Given the description of an element on the screen output the (x, y) to click on. 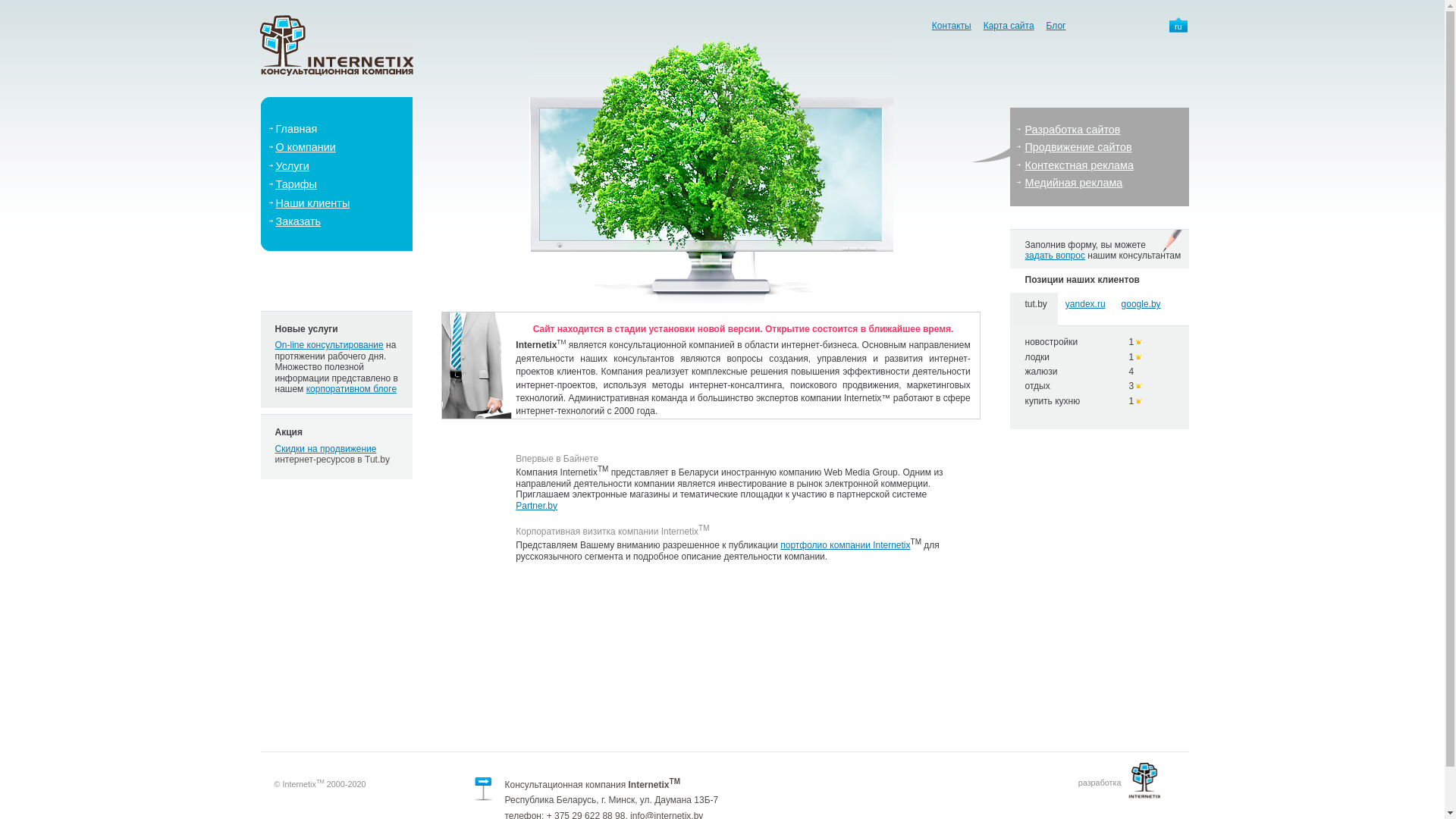
yandex.ru Element type: text (1085, 303)
google.by Element type: text (1141, 303)
Partner.by Element type: text (536, 505)
